Given the description of an element on the screen output the (x, y) to click on. 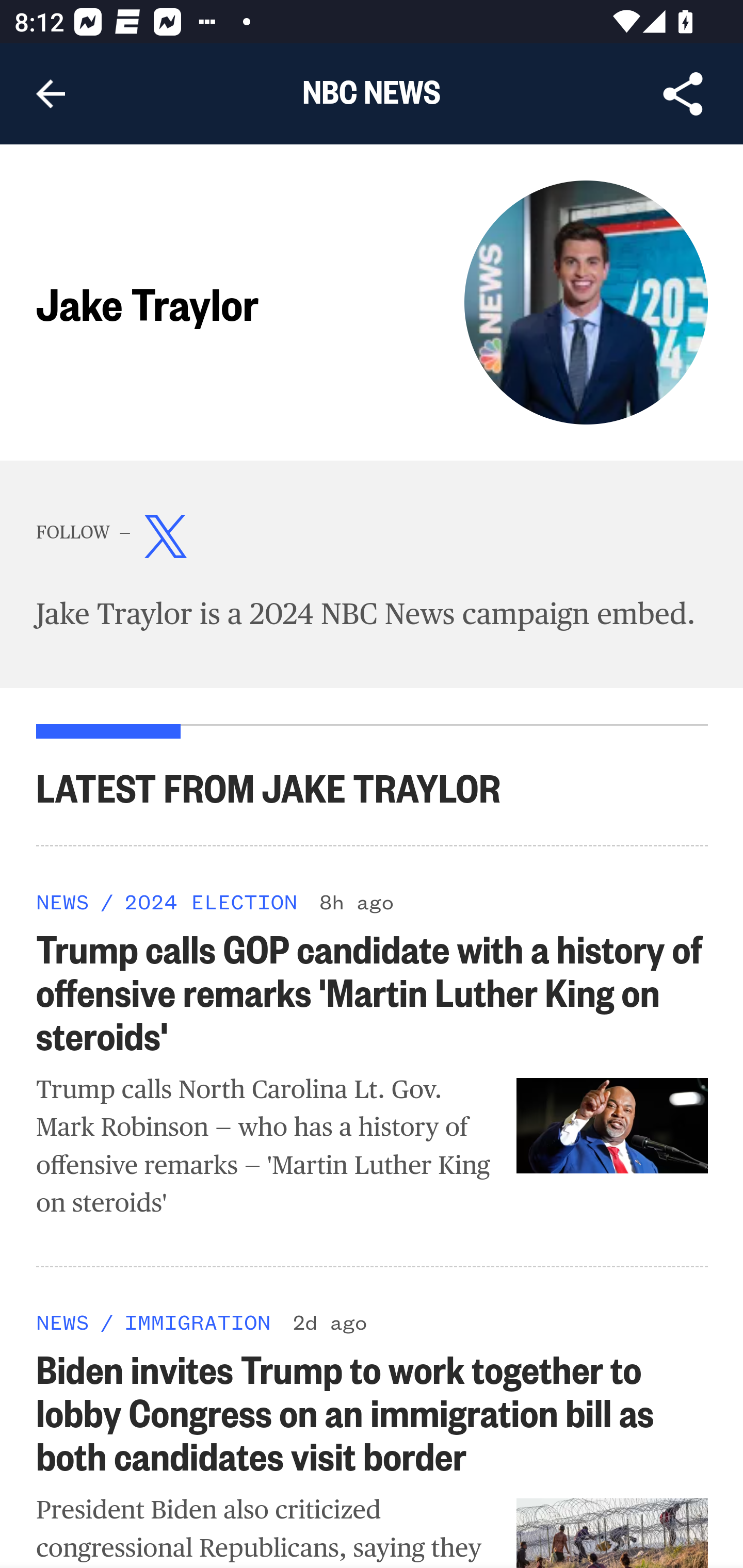
Navigate up (50, 93)
Share Article, button (683, 94)
 (165, 540)
NEWS NEWS NEWS (63, 900)
2024 ELECTION 2024 ELECTION 2024 ELECTION (209, 900)
NEWS NEWS NEWS (63, 1321)
IMMIGRATION IMMIGRATION IMMIGRATION (196, 1321)
